Given the description of an element on the screen output the (x, y) to click on. 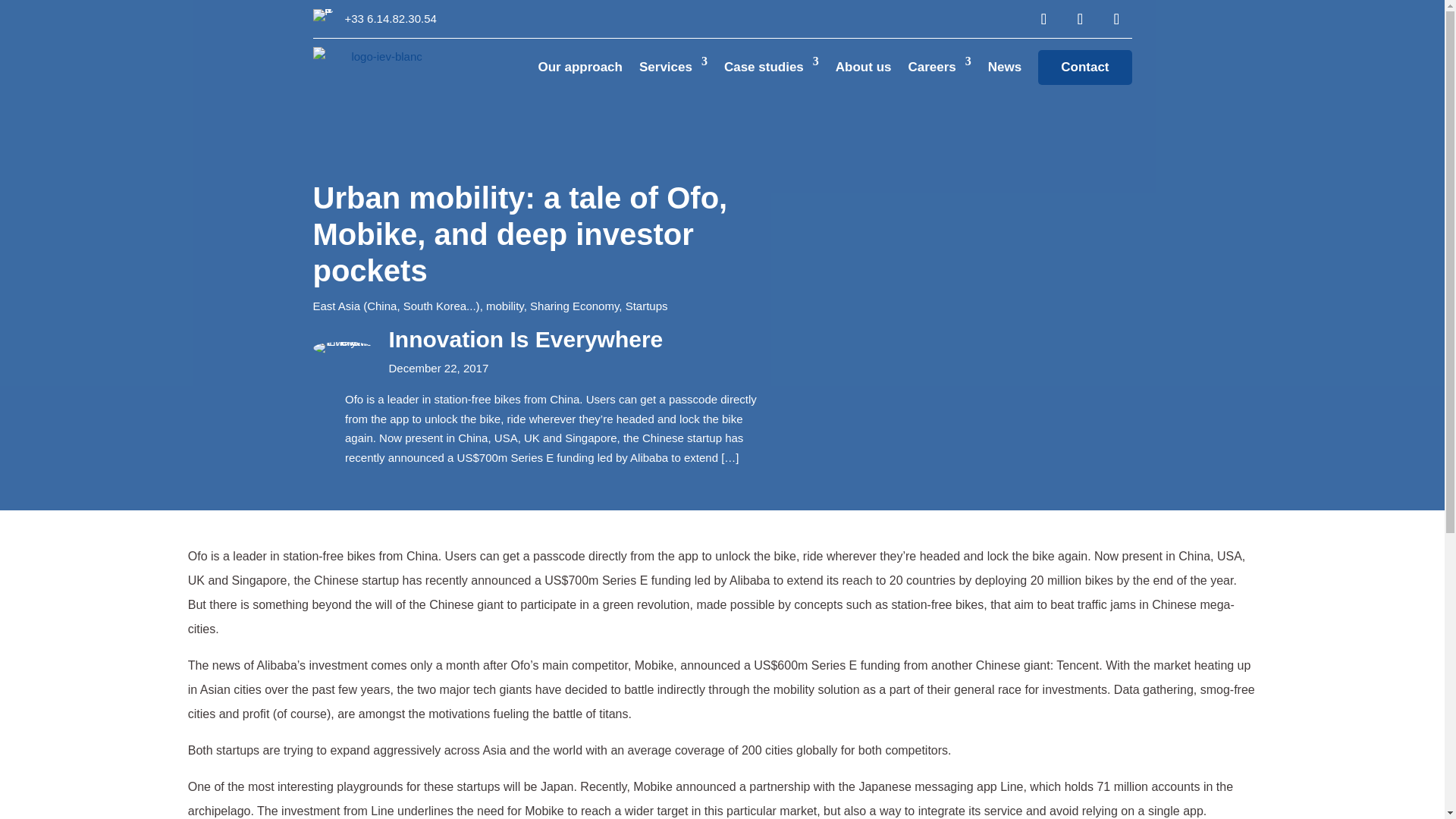
Case studies (770, 67)
Follow on X (1115, 19)
Follow on LinkedIn (1079, 19)
Sharing Economy (573, 305)
Our approach (580, 67)
mobility (505, 305)
About us (863, 67)
Services (673, 67)
Follow on Facebook (1042, 19)
Careers (939, 67)
Contact (1084, 67)
Startups (647, 305)
